Given the description of an element on the screen output the (x, y) to click on. 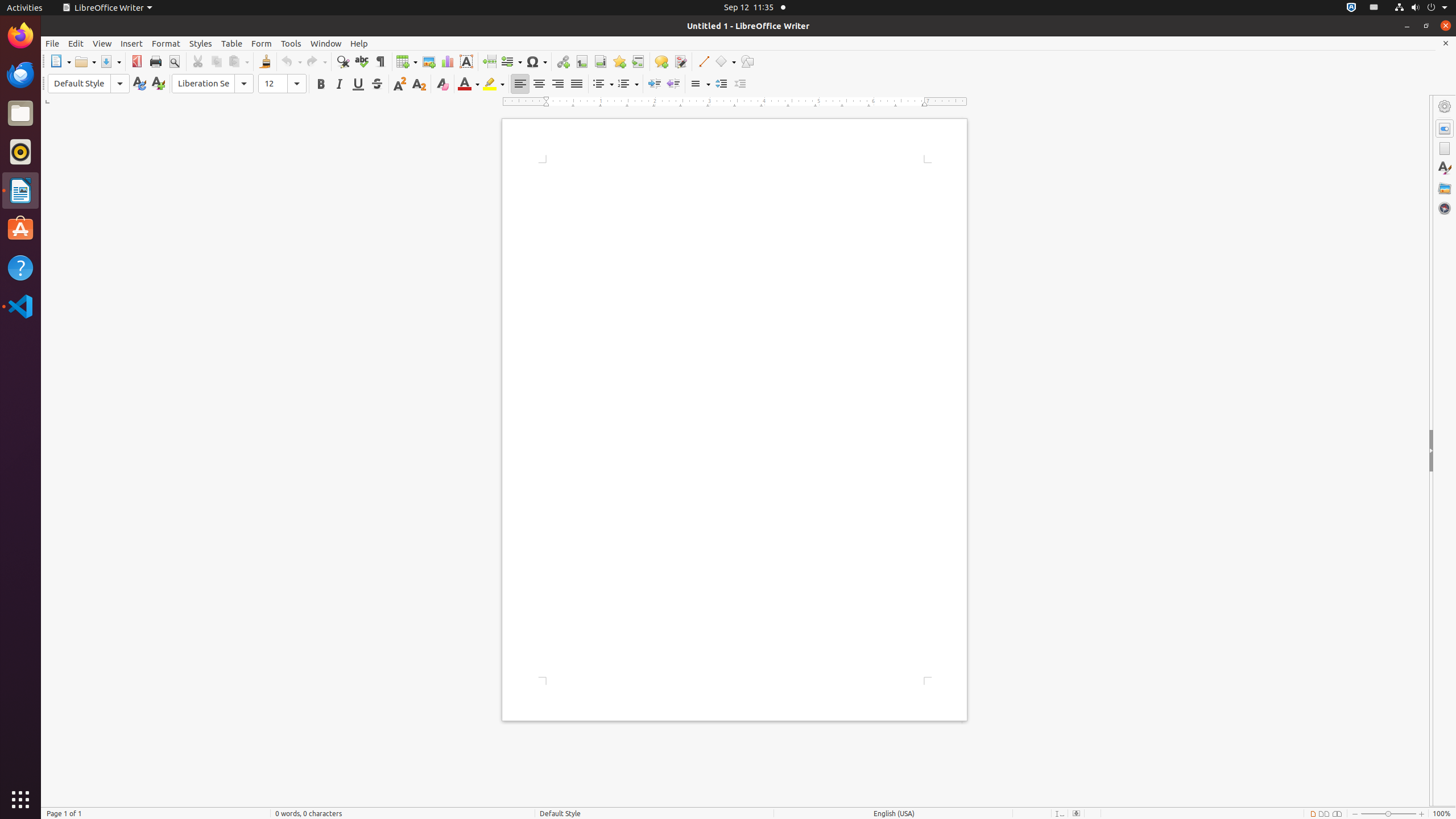
Table Element type: menu (231, 43)
Endnote Element type: push-button (599, 61)
Line Spacing Element type: push-button (699, 83)
Rhythmbox Element type: push-button (20, 151)
System Element type: menu (1420, 7)
